Given the description of an element on the screen output the (x, y) to click on. 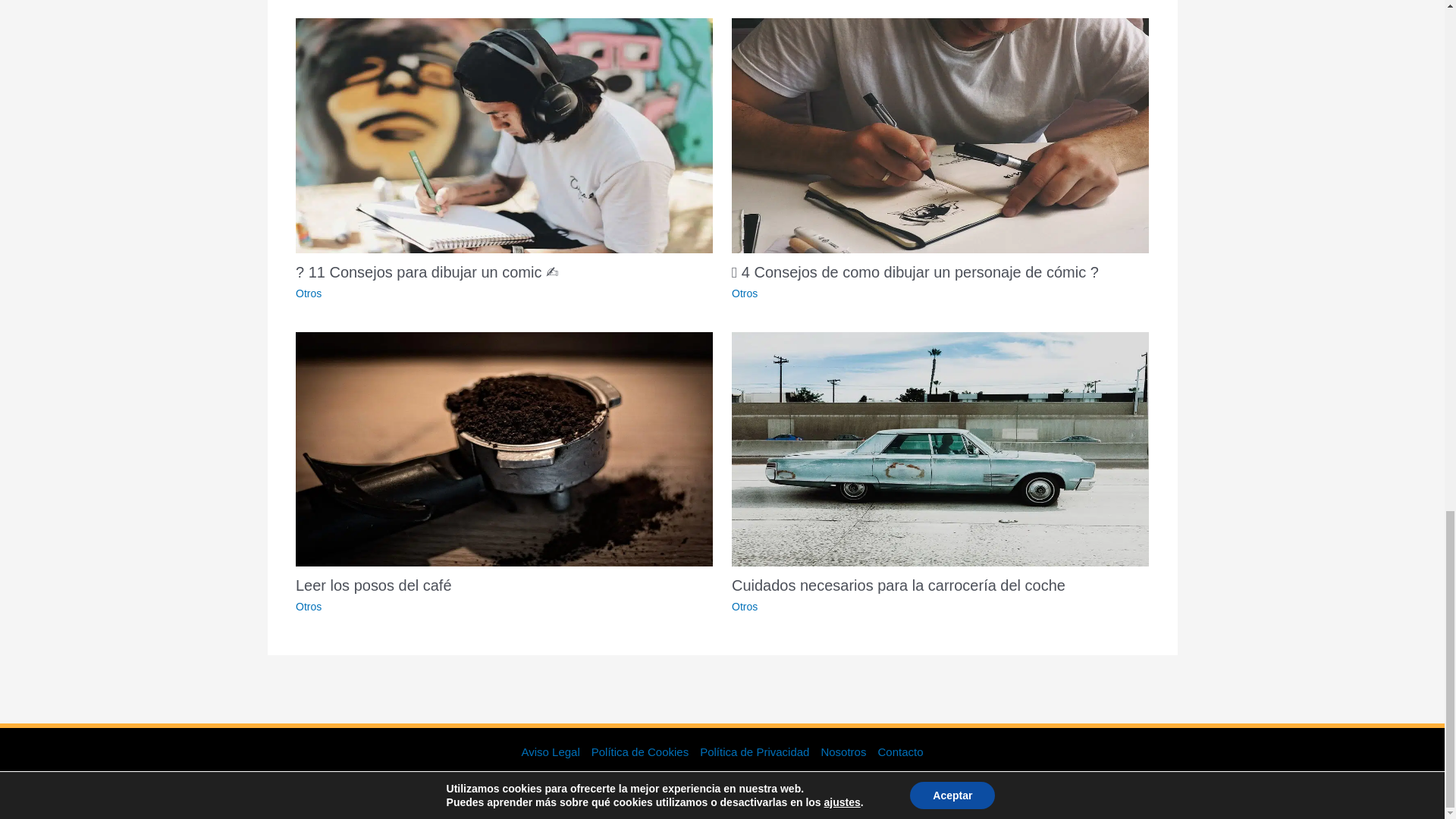
Otros (744, 293)
Otros (308, 606)
Otros (308, 293)
